Given the description of an element on the screen output the (x, y) to click on. 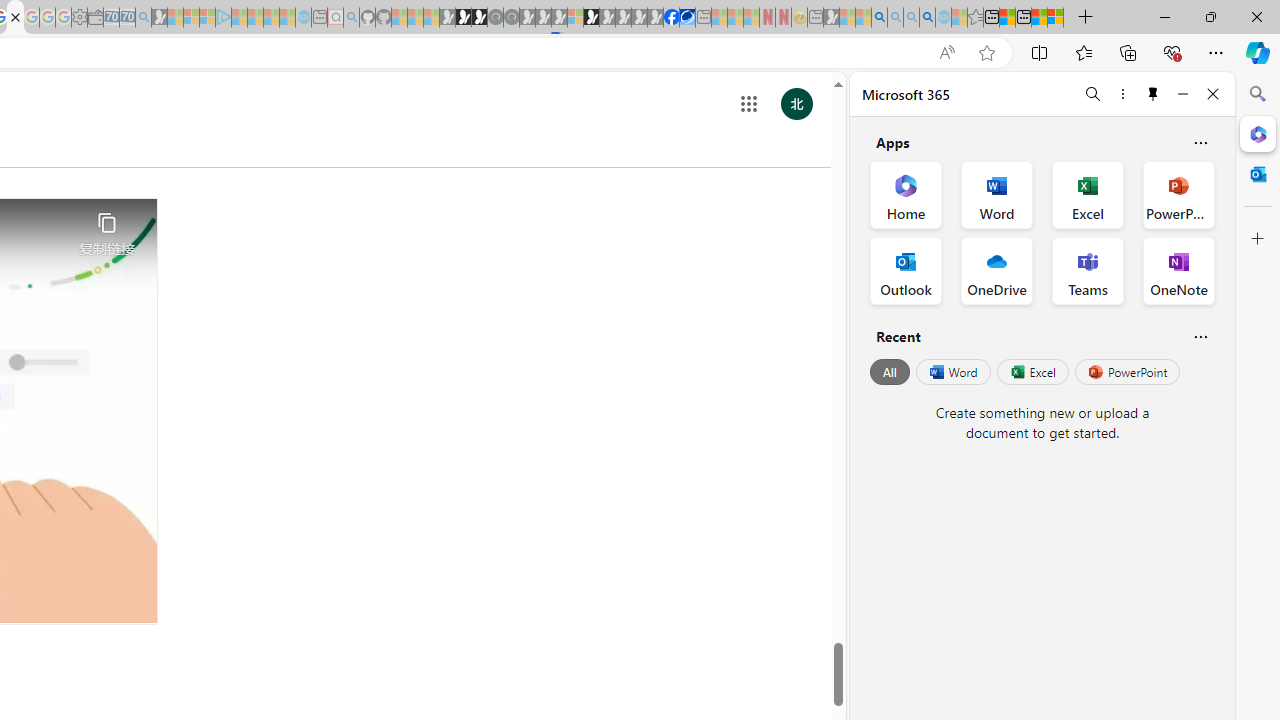
Google Chrome Internet Browser Download - Search Images (927, 17)
AirNow.gov (687, 17)
Aberdeen, Hong Kong SAR weather forecast | Microsoft Weather (1007, 17)
All (890, 372)
